Given the description of an element on the screen output the (x, y) to click on. 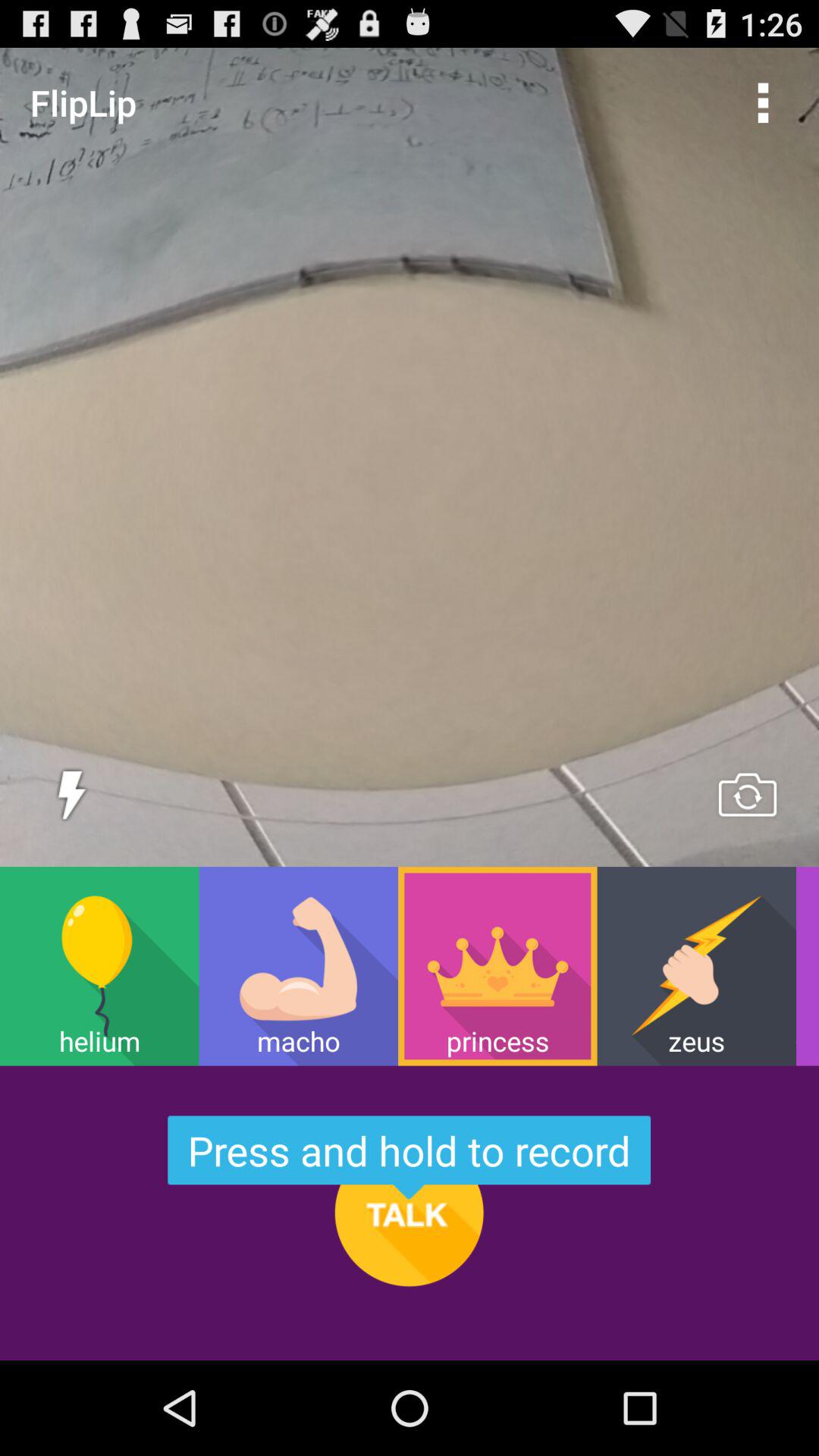
choose the icon to the right of helium icon (298, 965)
